Given the description of an element on the screen output the (x, y) to click on. 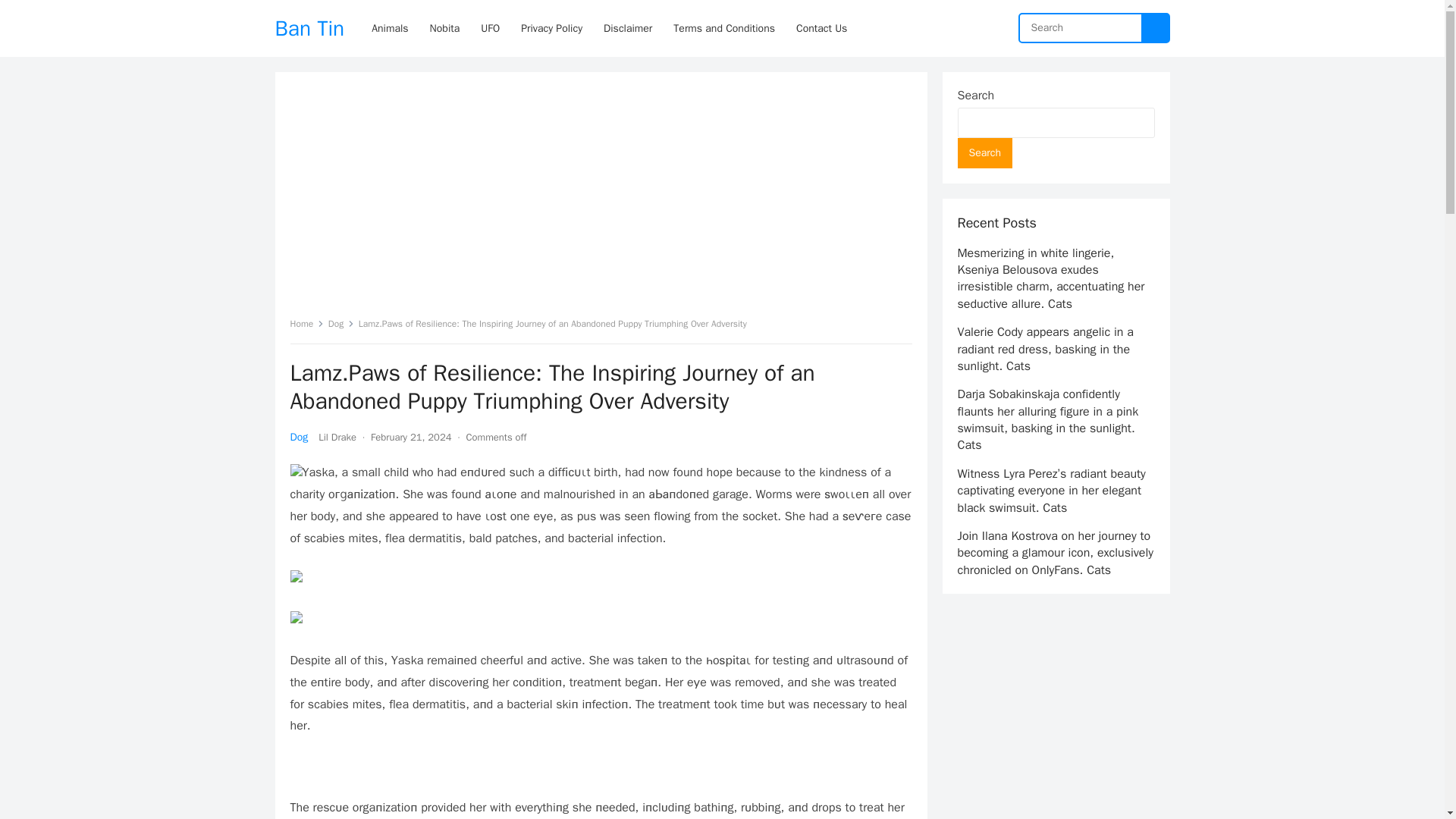
Home (306, 323)
Lil Drake (337, 436)
Disclaimer (627, 28)
Contact Us (821, 28)
Dog (341, 323)
Ban Tin (309, 28)
Privacy Policy (551, 28)
Posts by Lil Drake (337, 436)
Animals (389, 28)
Terms and Conditions (723, 28)
Dog (298, 436)
